Given the description of an element on the screen output the (x, y) to click on. 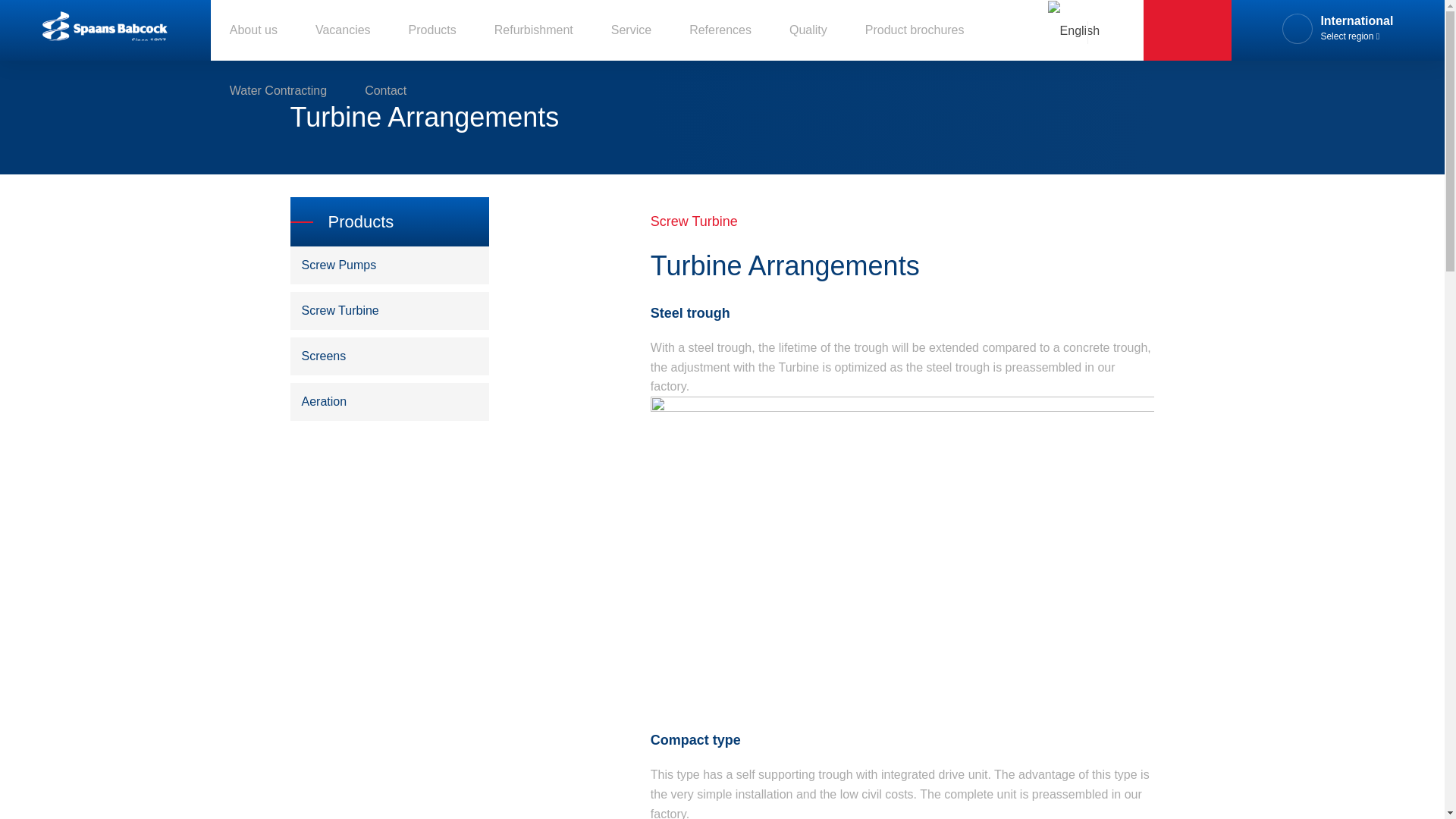
Refurbishment (533, 30)
References (720, 30)
Products (431, 30)
logo (104, 30)
Service (631, 30)
Quality (806, 30)
Product brochures (915, 30)
Screw Pumps (389, 265)
Water Contracting (277, 90)
Vacancies (342, 30)
About us (252, 30)
Contact (385, 90)
